Given the description of an element on the screen output the (x, y) to click on. 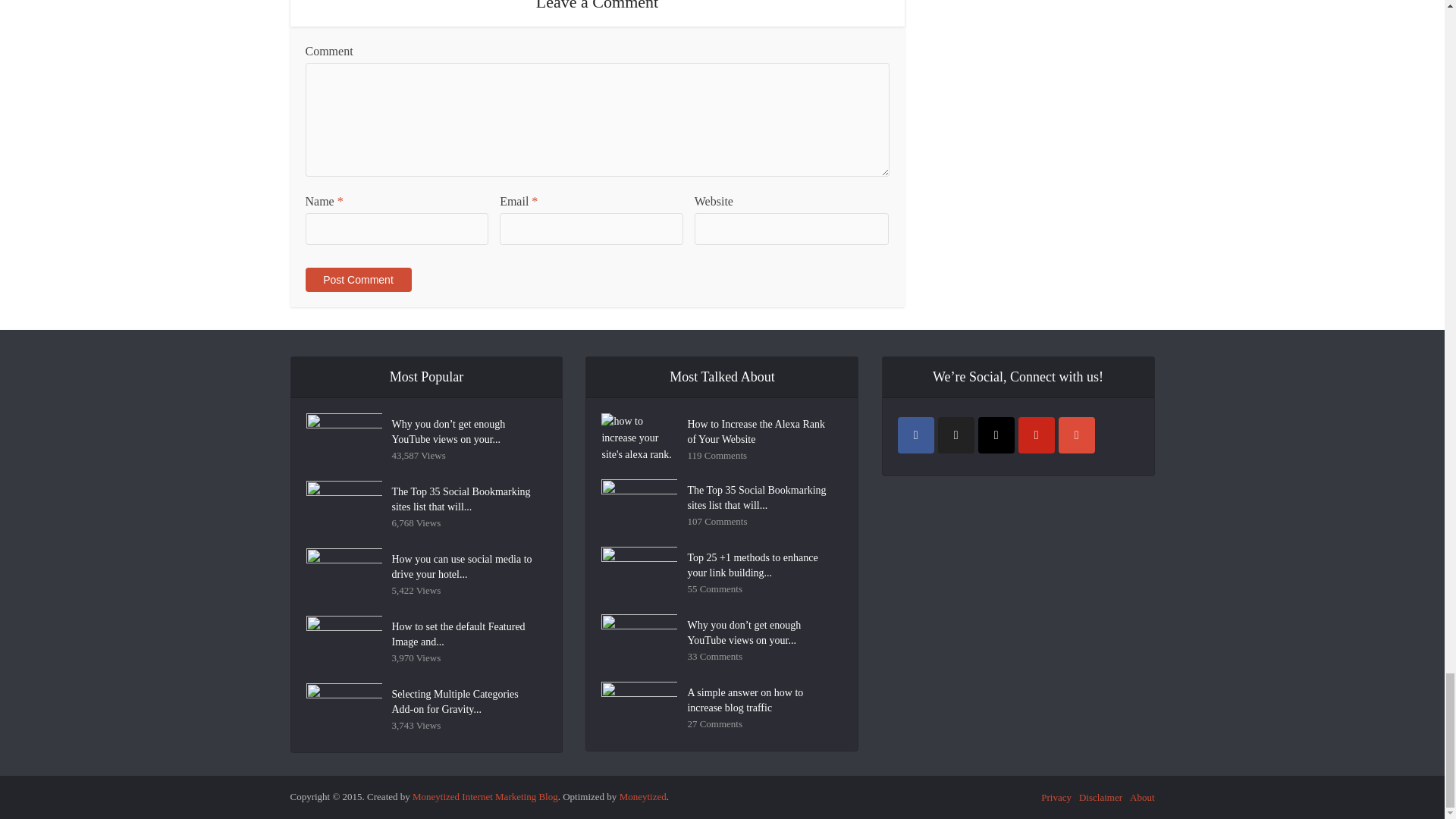
Post Comment (357, 279)
